Given the description of an element on the screen output the (x, y) to click on. 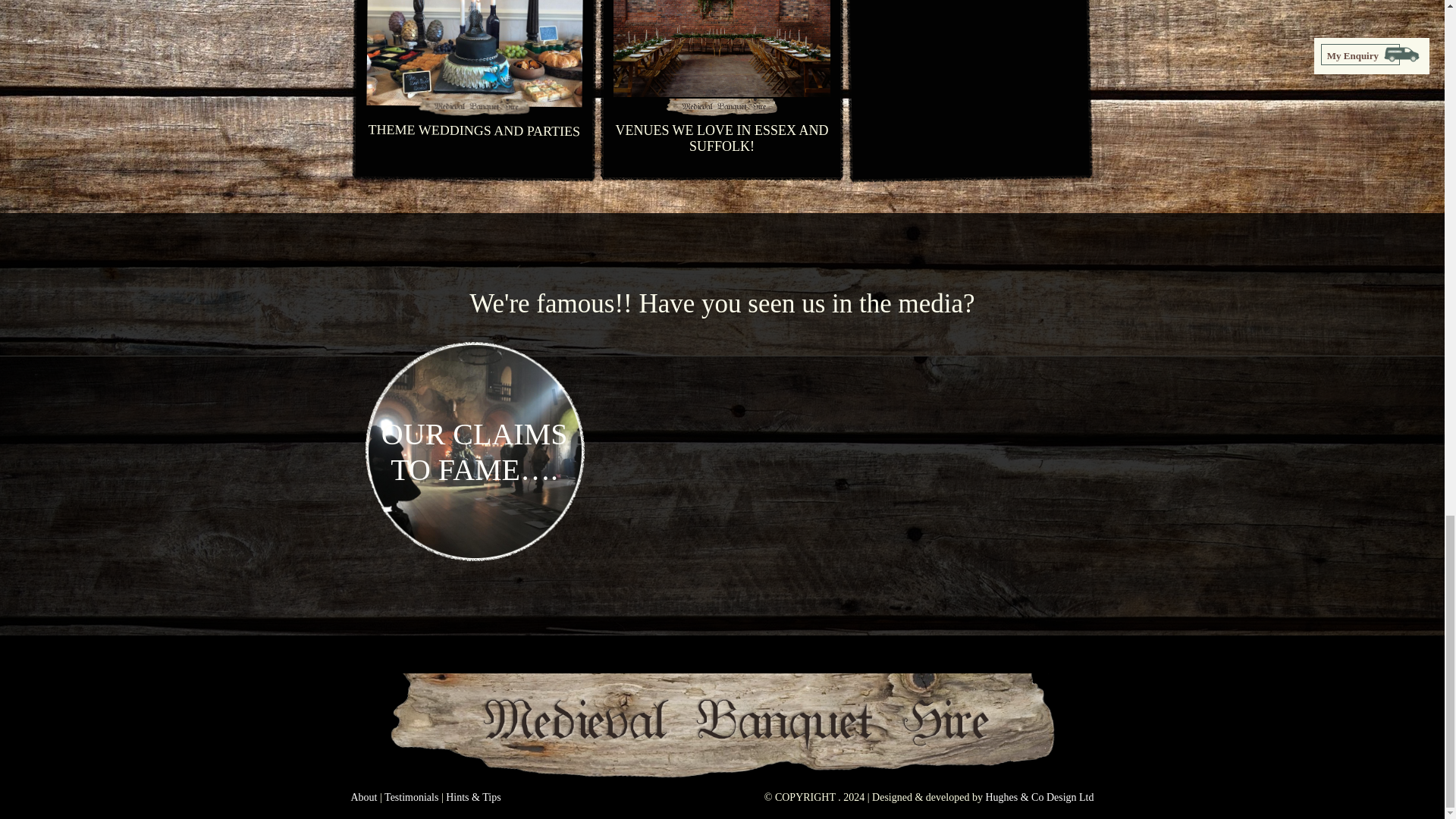
About (363, 797)
Testimonials (411, 797)
